Given the description of an element on the screen output the (x, y) to click on. 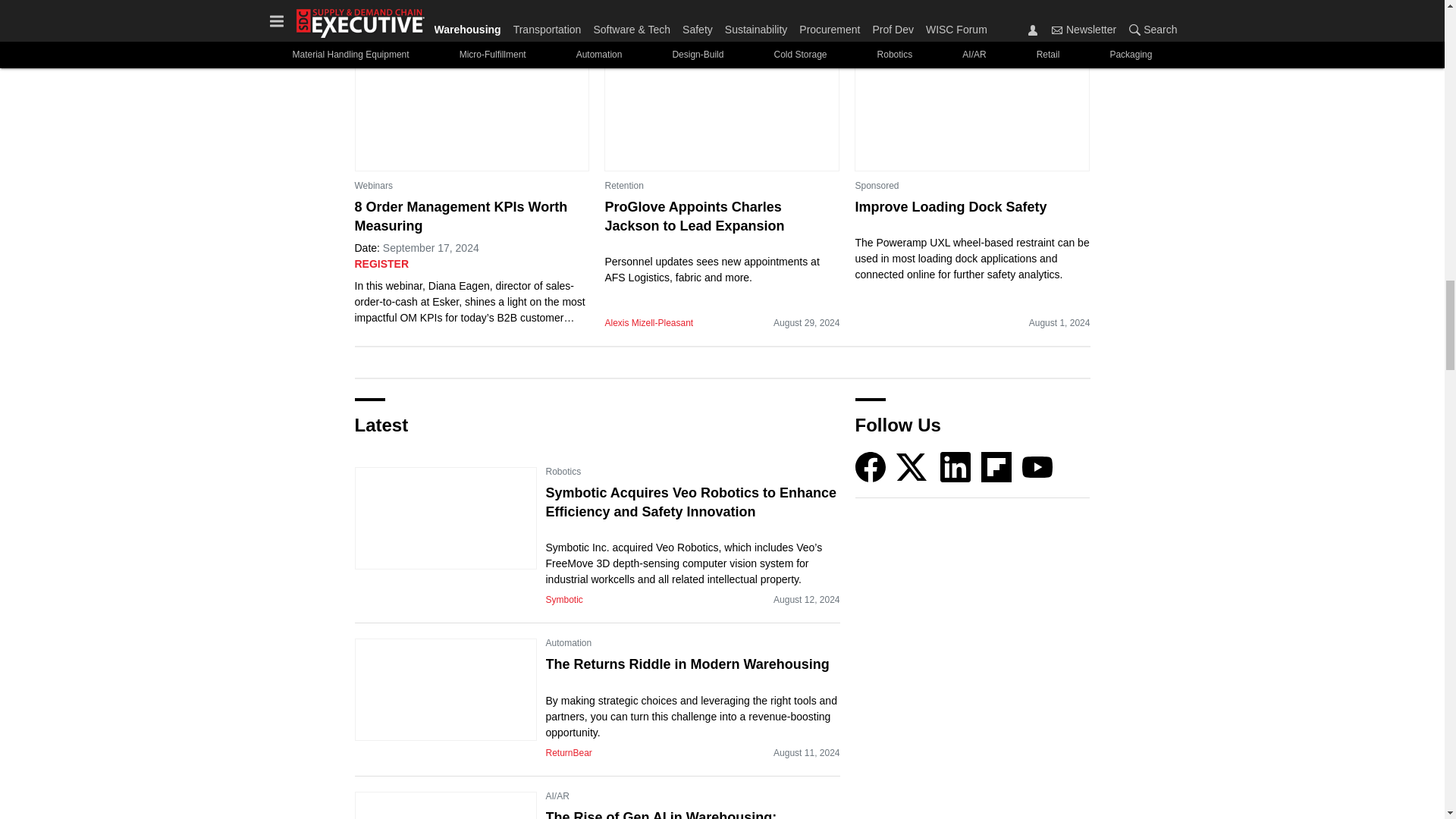
Flipboard icon (996, 467)
Twitter X icon (911, 467)
Webinars (374, 184)
Facebook icon (870, 467)
YouTube icon (1037, 467)
LinkedIn icon (955, 467)
Sponsored (876, 184)
